Given the description of an element on the screen output the (x, y) to click on. 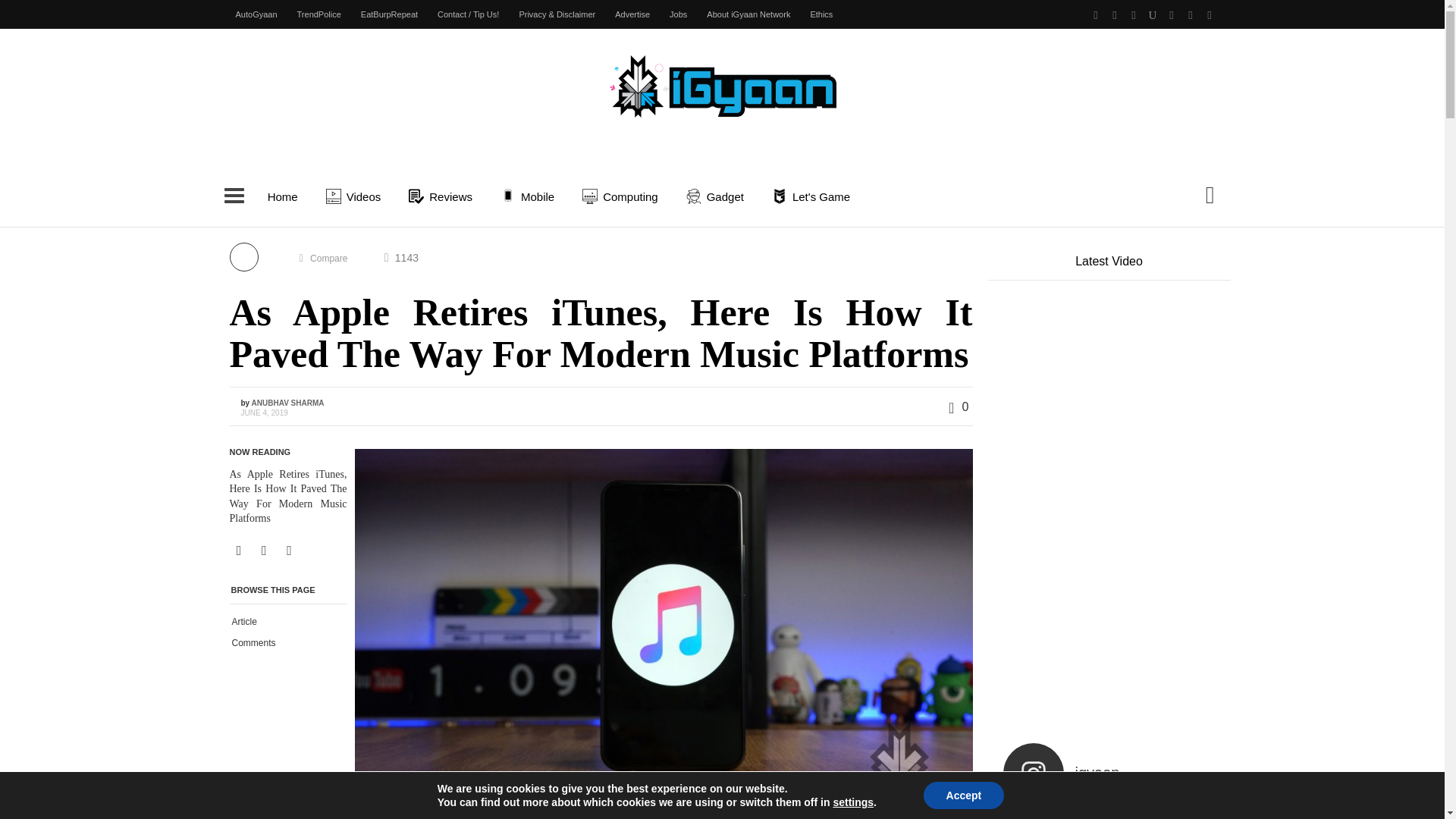
Home (282, 196)
Jobs (678, 14)
Videos (355, 196)
AutoGyaan (255, 14)
EatBurpRepeat (389, 14)
About iGyaan Network (748, 14)
Advertise (632, 14)
TrendPolice (318, 14)
Ethics (821, 14)
